Given the description of an element on the screen output the (x, y) to click on. 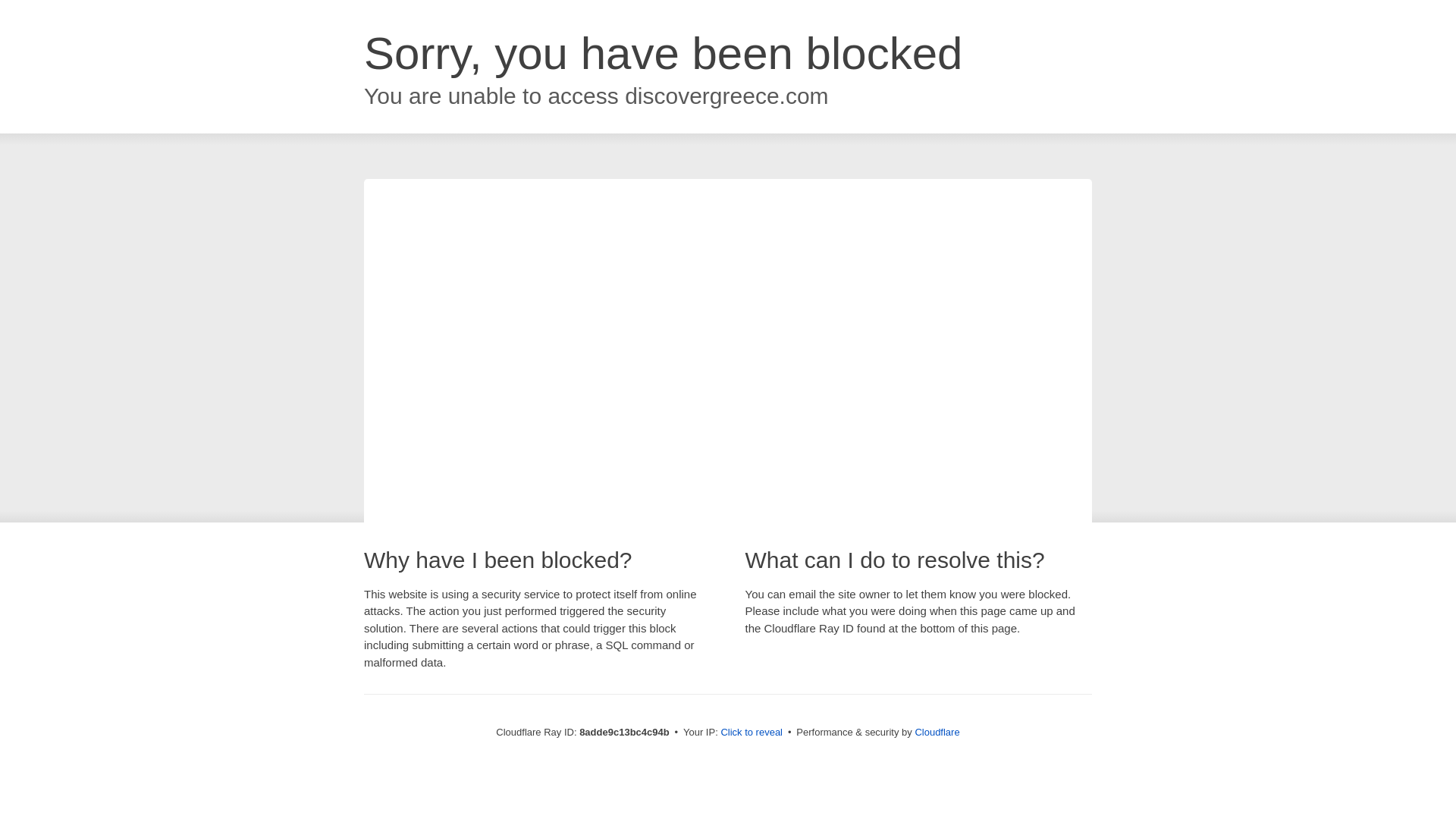
Click to reveal (751, 732)
Cloudflare (936, 731)
